Given the description of an element on the screen output the (x, y) to click on. 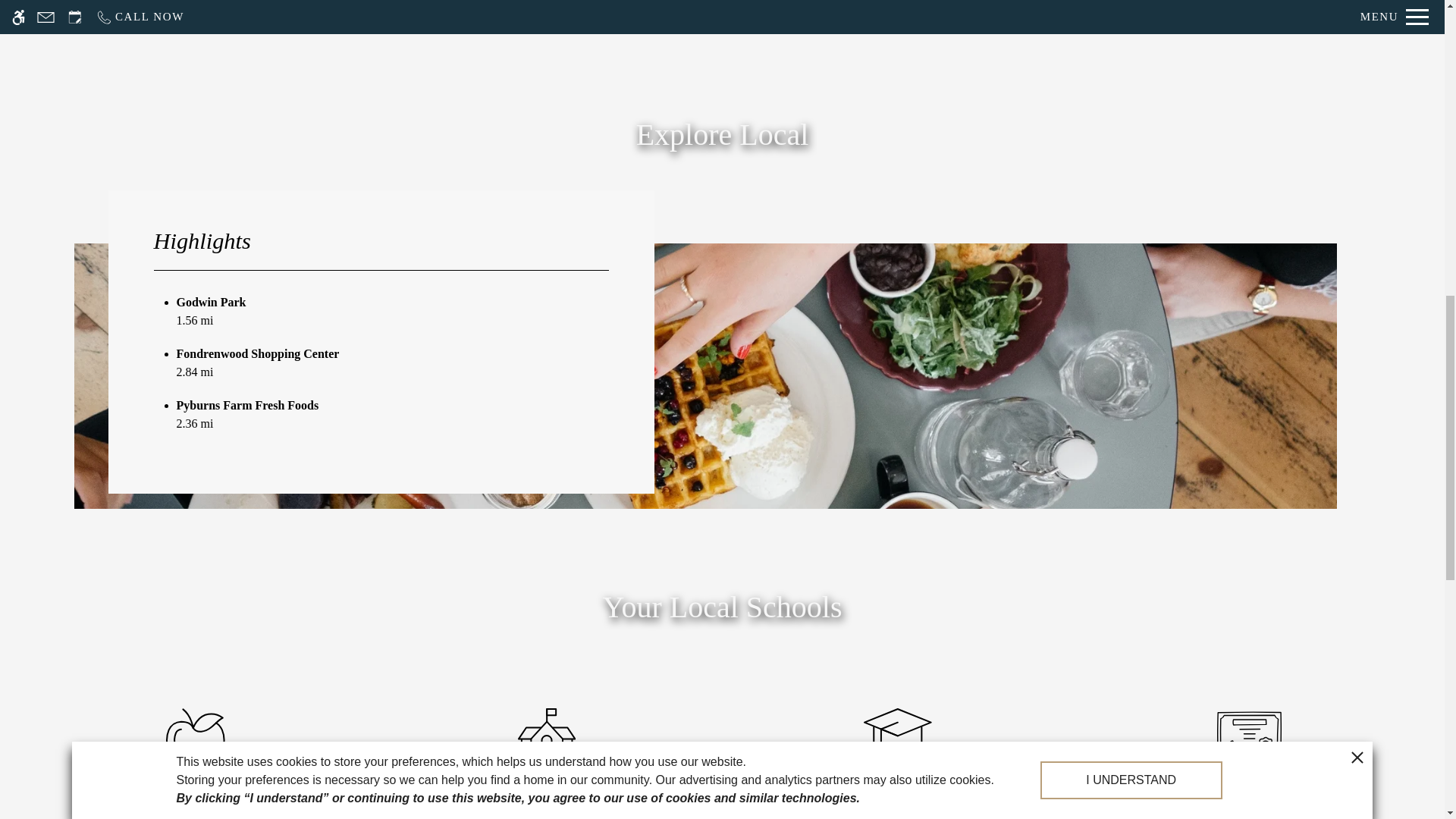
I UNDERSTAND (1132, 655)
Drawn icon of the school (897, 735)
graduation cap (546, 737)
Icon of an apple (194, 739)
